Given the description of an element on the screen output the (x, y) to click on. 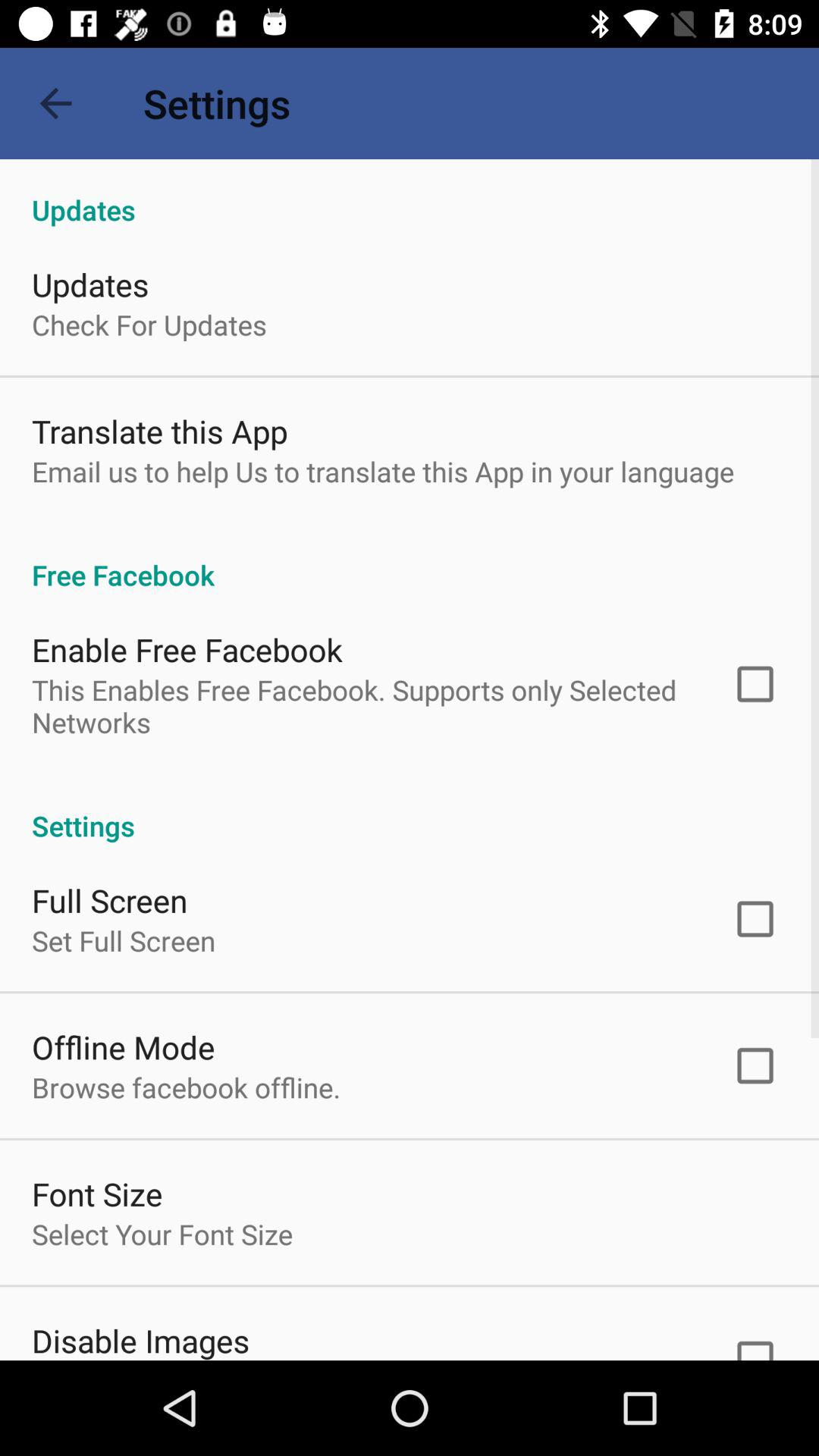
swipe to browse facebook offline. item (185, 1087)
